Given the description of an element on the screen output the (x, y) to click on. 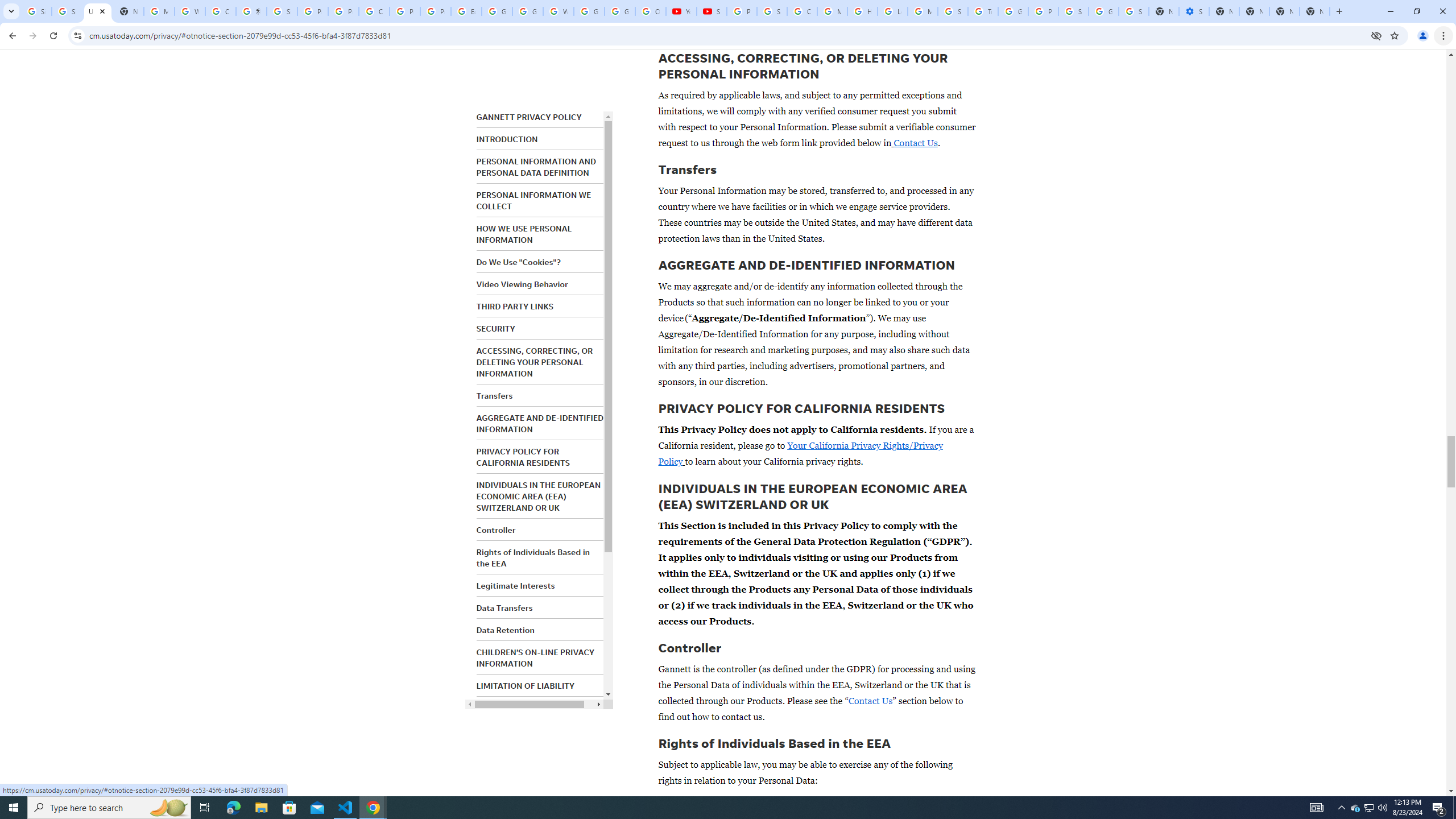
Edit and view right-to-left text - Google Docs Editors Help (465, 11)
Video Viewing Behavior (521, 284)
THIRD PARTY LINKS (514, 306)
Sign in - Google Accounts (771, 11)
Sign in - Google Accounts (36, 11)
Google Account (619, 11)
Do We Use "Cookies"? (518, 261)
Sign in - Google Accounts (1133, 11)
New Tab (1314, 11)
